Given the description of an element on the screen output the (x, y) to click on. 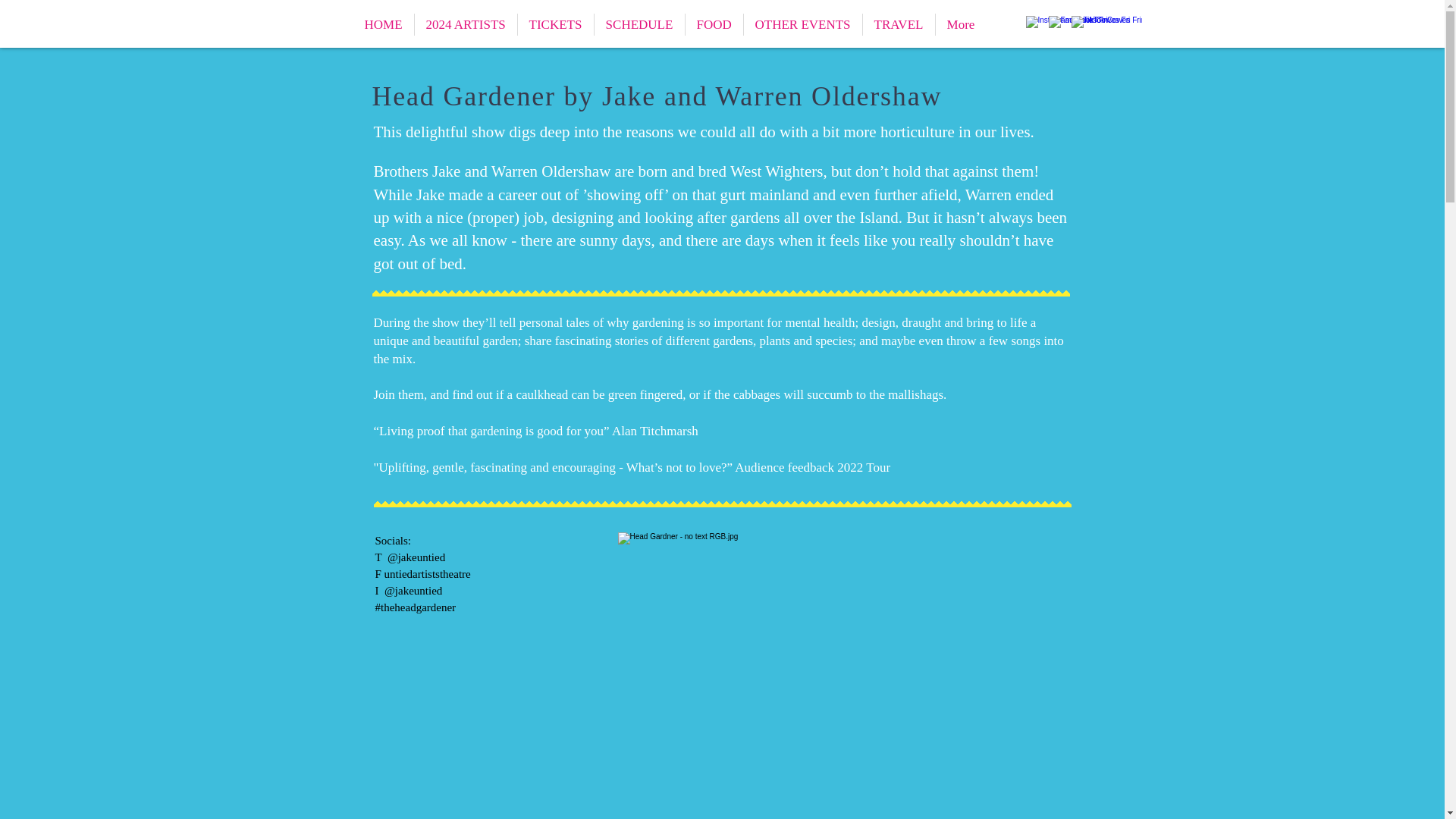
HOME (383, 24)
FOOD (713, 24)
TICKETS (554, 24)
SCHEDULE (639, 24)
TRAVEL (898, 24)
